Given the description of an element on the screen output the (x, y) to click on. 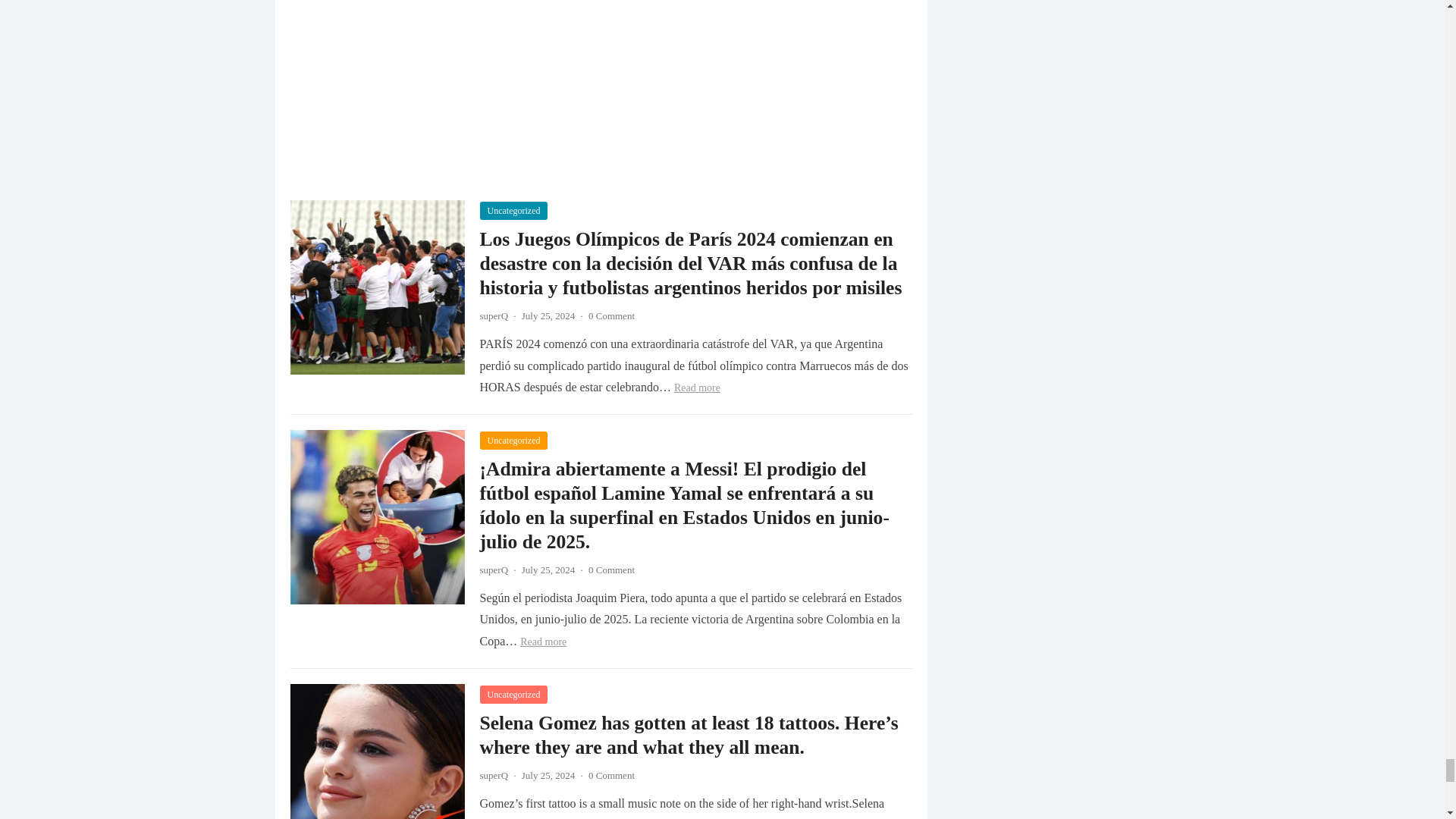
superQ (493, 315)
Posts by superQ (493, 315)
Read more (697, 387)
Uncategorized (513, 440)
Posts by superQ (493, 775)
0 Comment (611, 315)
Uncategorized (513, 210)
Posts by superQ (493, 569)
